Given the description of an element on the screen output the (x, y) to click on. 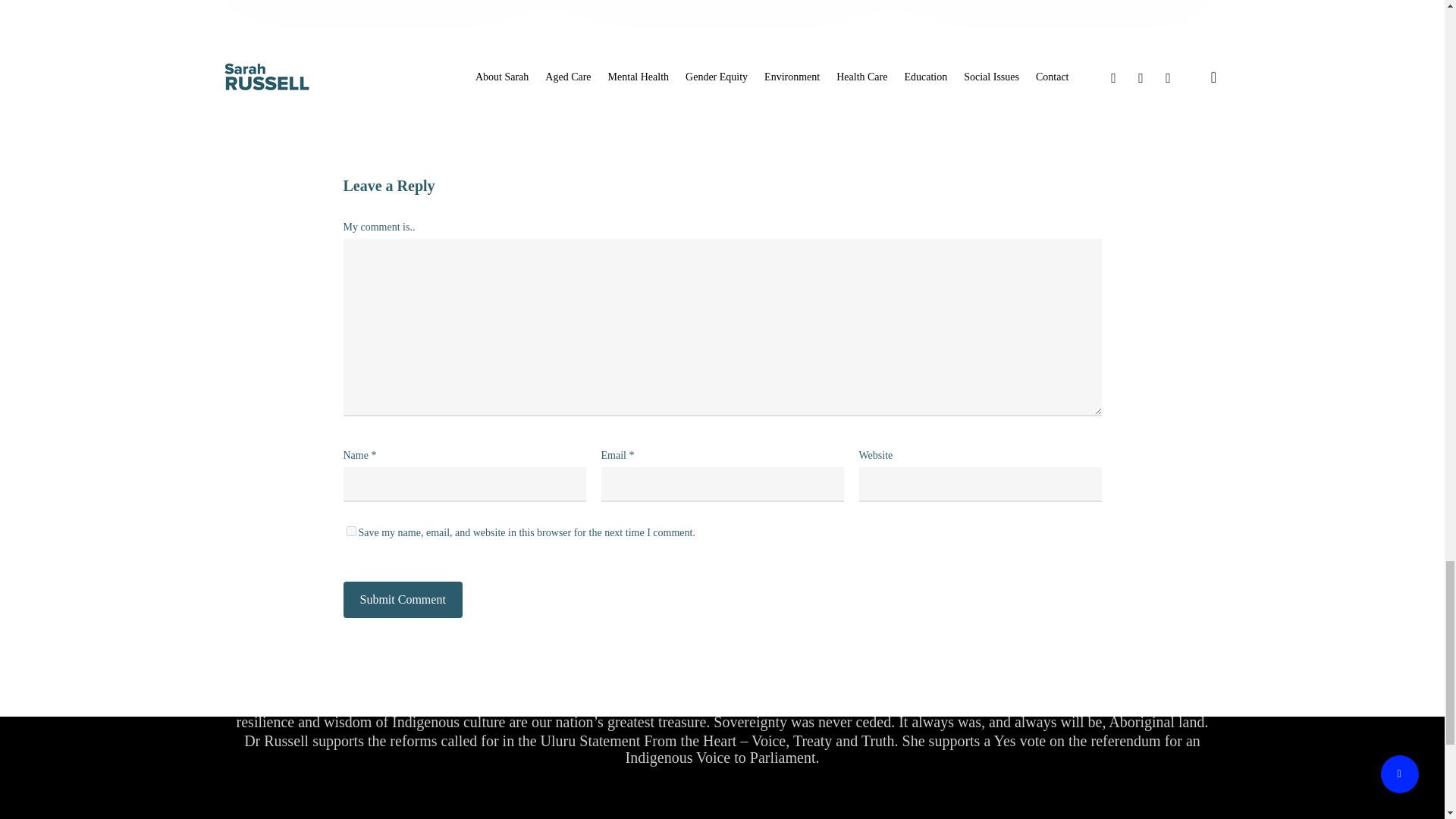
yes (350, 531)
Submit Comment (401, 599)
